Given the description of an element on the screen output the (x, y) to click on. 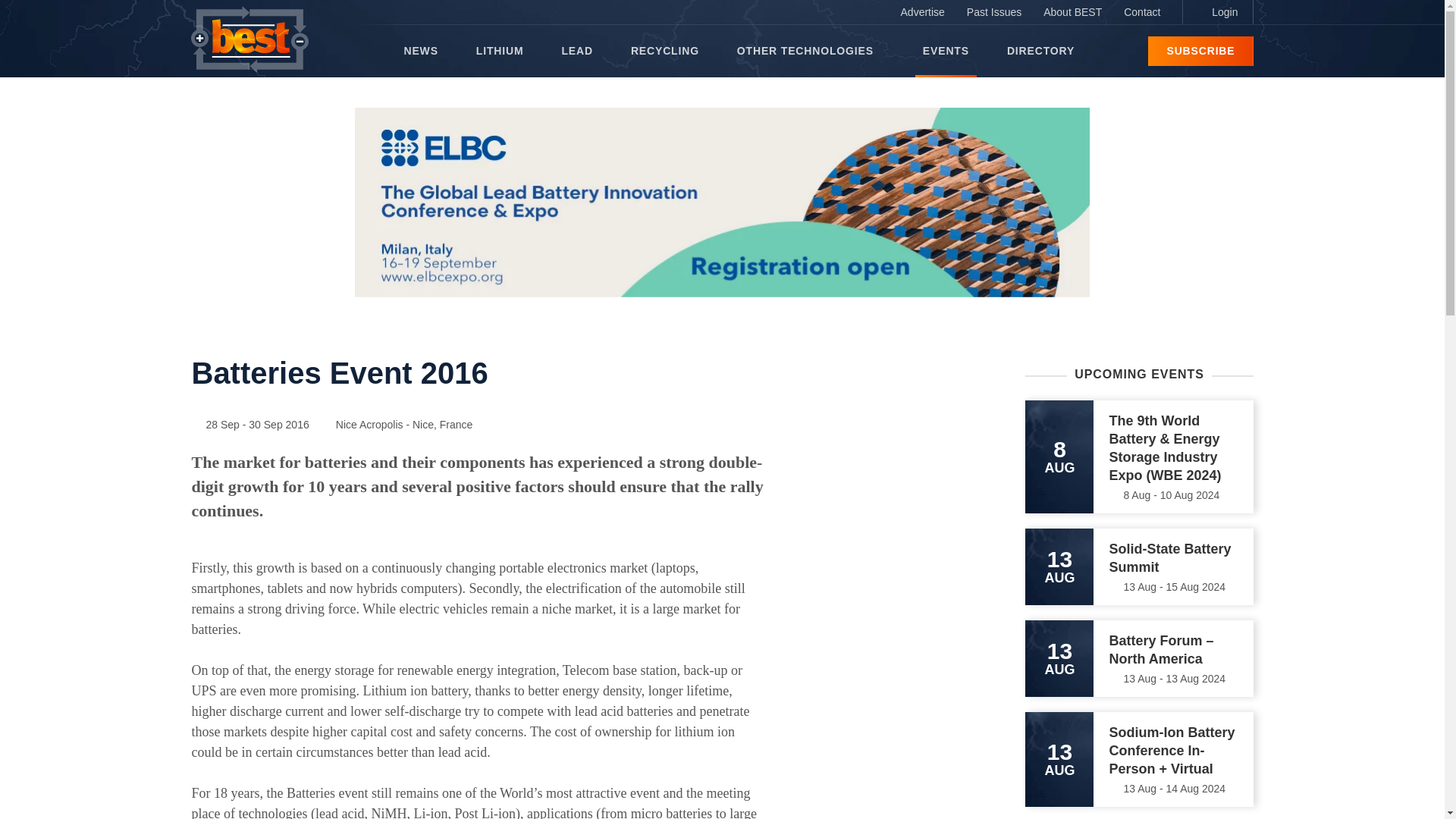
Advertise (922, 12)
NEWS (420, 50)
RECYCLING (664, 50)
Past Issues (994, 12)
DIRECTORY (1039, 50)
SUBSCRIBE (1200, 51)
About BEST (1072, 12)
LITHIUM (499, 50)
OTHER TECHNOLOGIES (810, 50)
Contact (1141, 12)
